Given the description of an element on the screen output the (x, y) to click on. 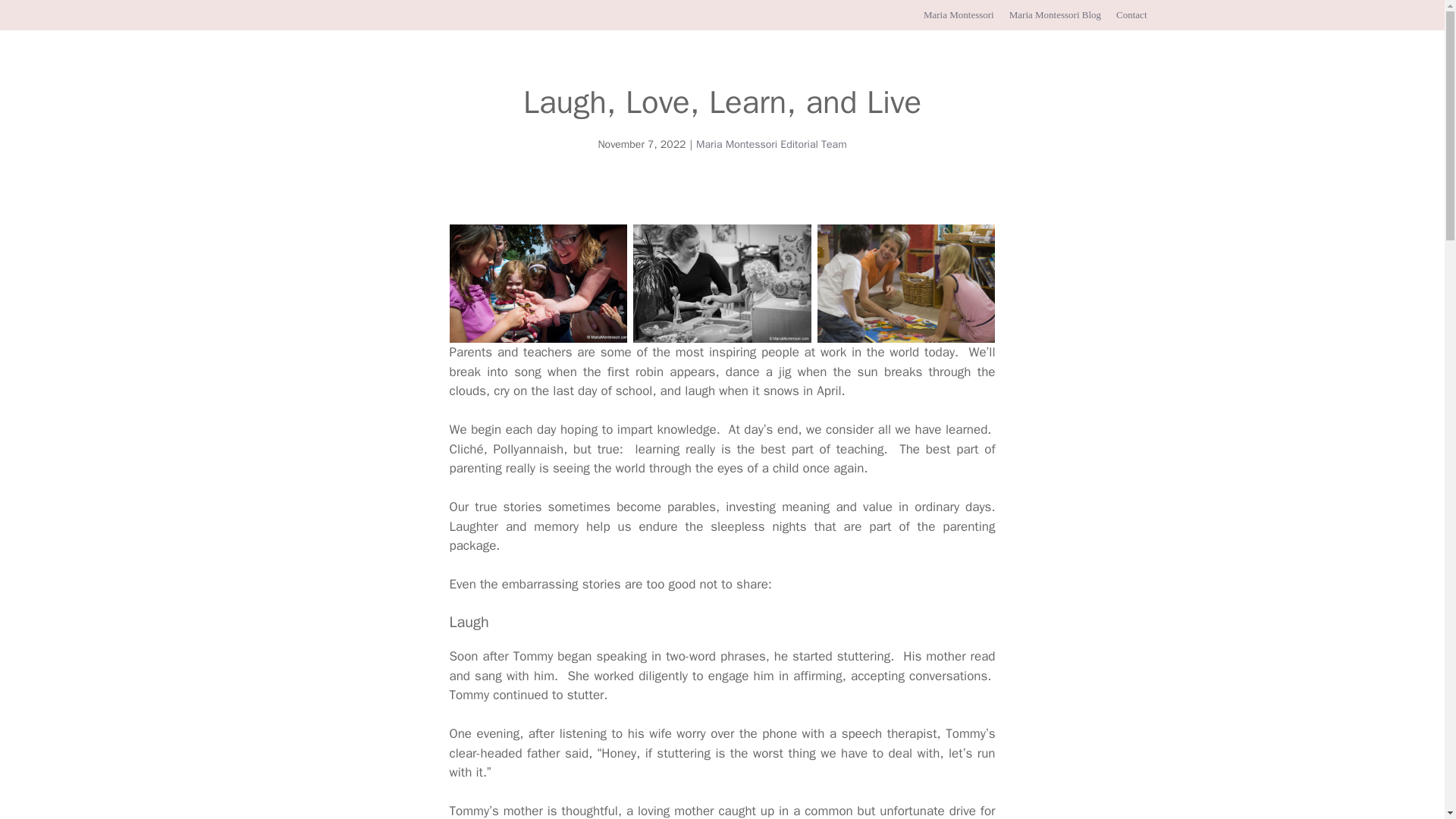
Contact (1131, 14)
Maria Montessori Blog (1054, 14)
Maria Montessori Editorial Team (771, 144)
Maria Montessori (958, 14)
